Given the description of an element on the screen output the (x, y) to click on. 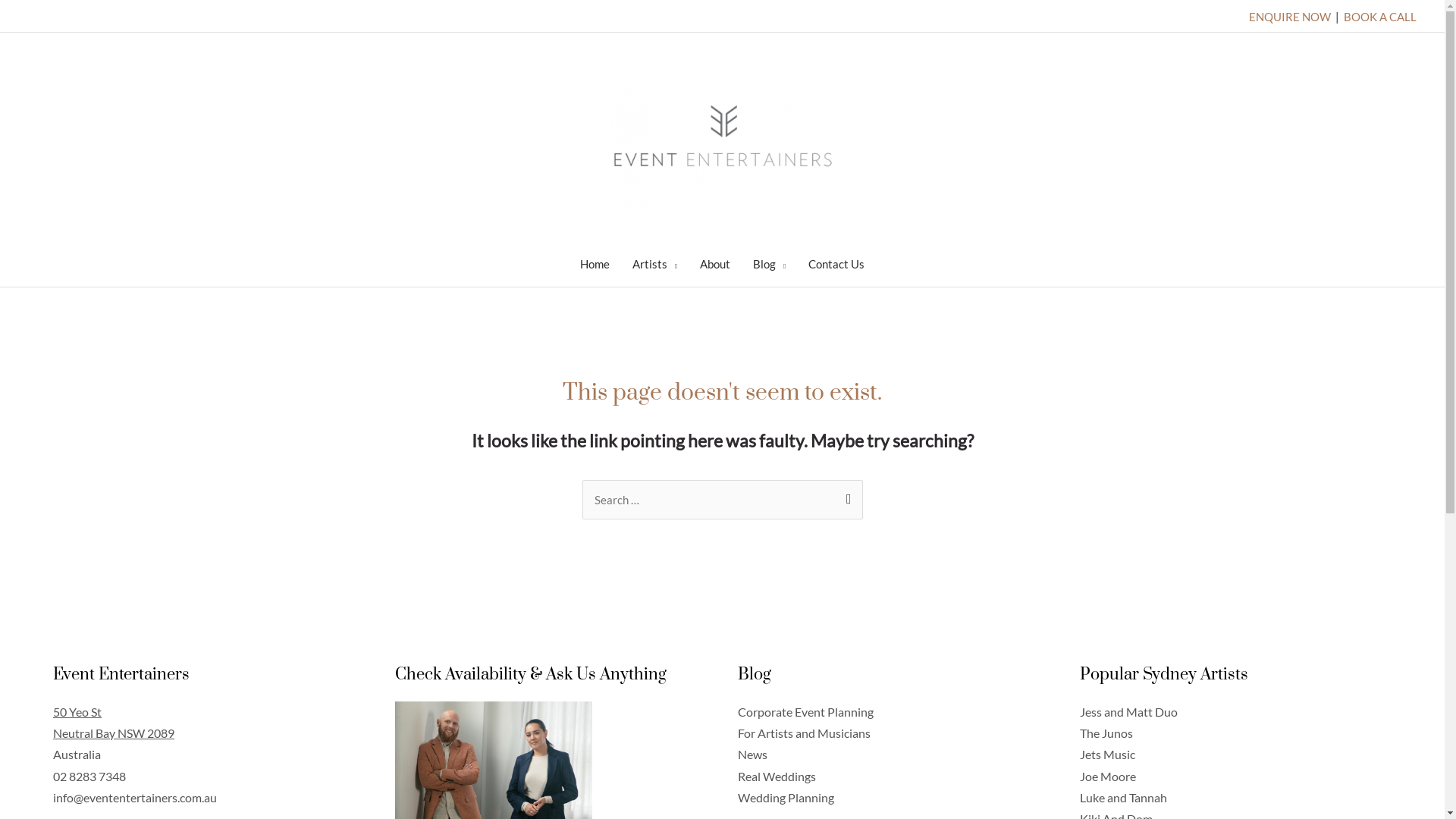
Artists Element type: text (654, 263)
Contact Us Element type: text (836, 263)
About Element type: text (714, 263)
News Element type: text (751, 753)
Luke and Tannah Element type: text (1123, 797)
info@evententertainers.com.au Element type: text (134, 797)
The Junos Element type: text (1105, 732)
Jess and Matt Duo Element type: text (1128, 711)
Wedding Planning Element type: text (785, 797)
Blog Element type: text (769, 263)
Home Element type: text (594, 263)
Corporate Event Planning Element type: text (804, 711)
Joe Moore Element type: text (1107, 775)
Jets Music Element type: text (1107, 753)
Search Element type: text (845, 495)
02 8283 7348 Element type: text (89, 775)
BOOK A CALL Element type: text (1379, 16)
For Artists and Musicians Element type: text (803, 732)
50 Yeo St
Neutral Bay NSW 2089 Element type: text (113, 722)
ENQUIRE NOW Element type: text (1289, 16)
Real Weddings Element type: text (776, 775)
